Given the description of an element on the screen output the (x, y) to click on. 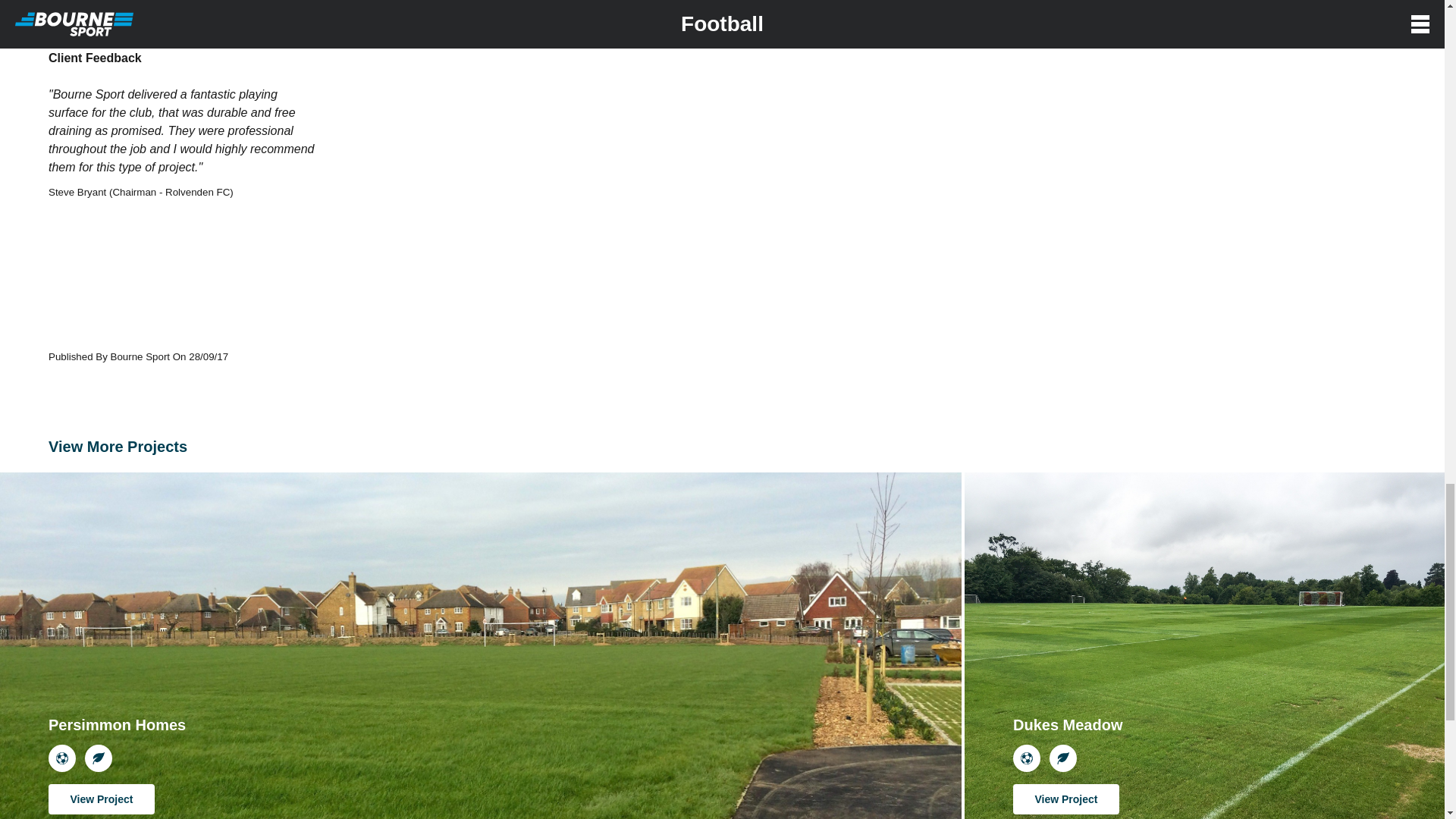
View Project (101, 798)
Persimmon Homes (117, 743)
Dukes Meadow (1067, 743)
View Project (101, 798)
View Project (1066, 798)
View Project (1066, 798)
